Given the description of an element on the screen output the (x, y) to click on. 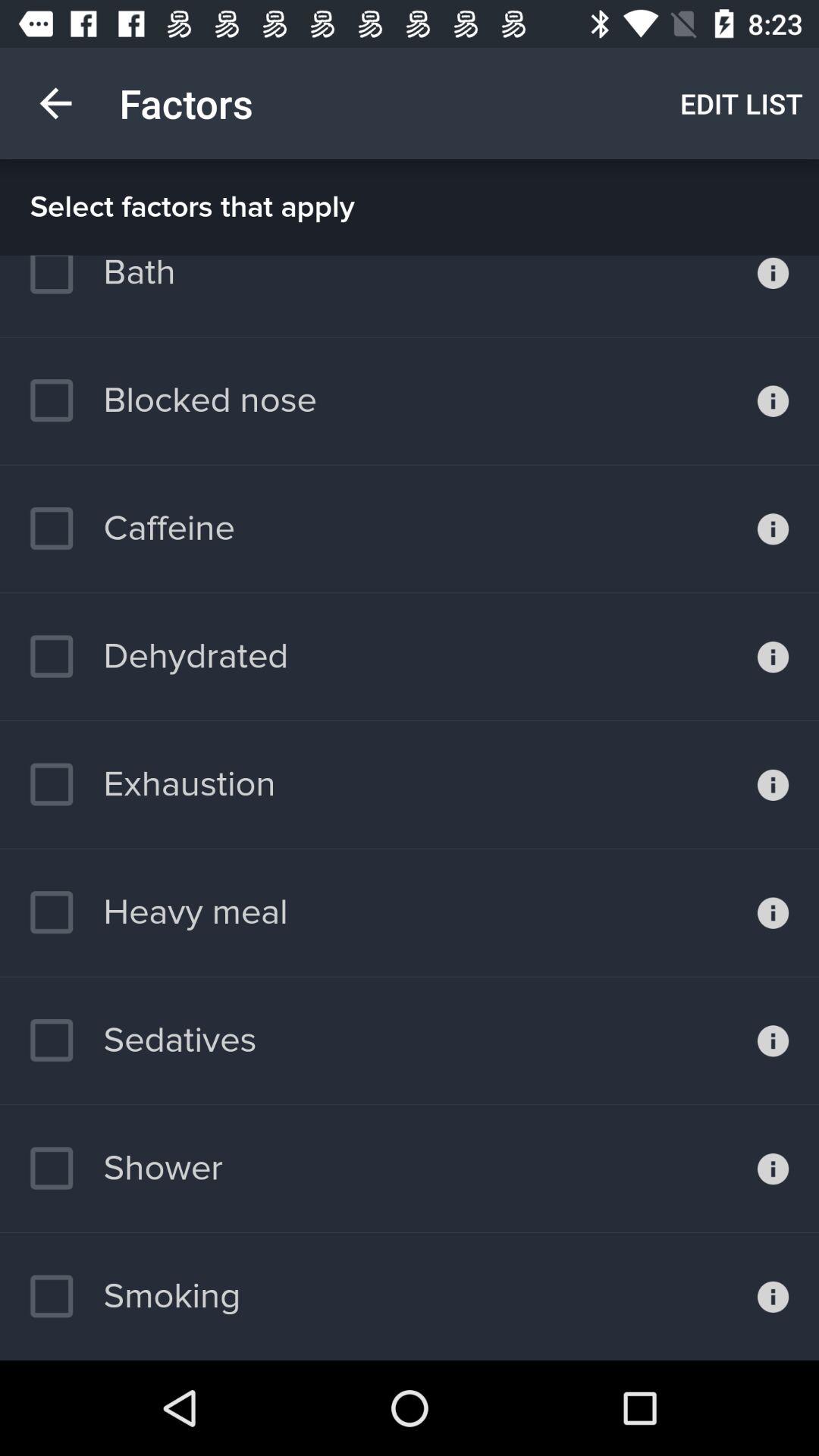
click icon below the exhaustion (158, 912)
